Given the description of an element on the screen output the (x, y) to click on. 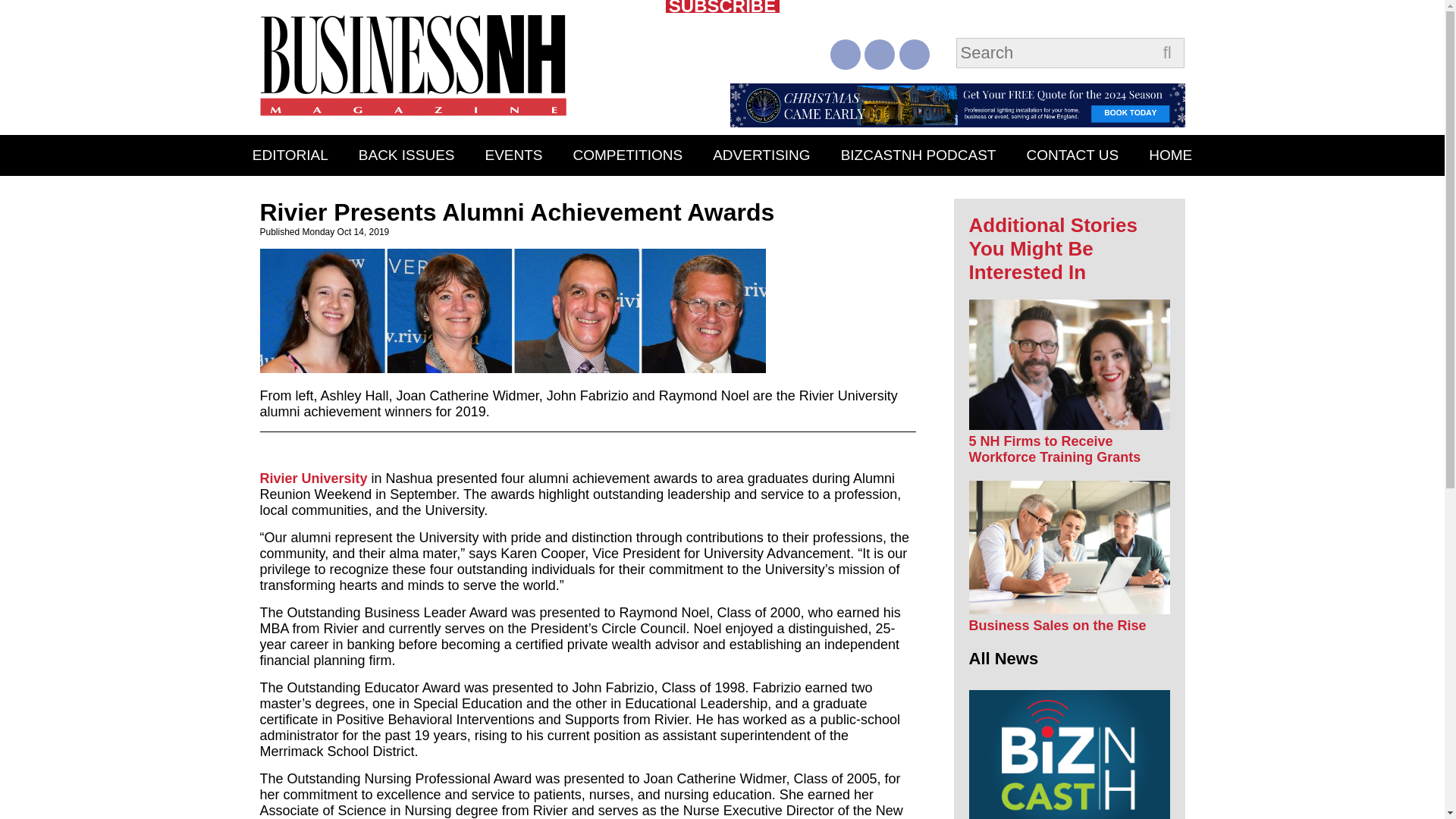
BACK ISSUES (406, 155)
EVENTS (513, 155)
BIZCASTNH PODCAST (918, 155)
ADVERTISING (761, 155)
COMPETITIONS (627, 155)
EDITORIAL (290, 155)
